Given the description of an element on the screen output the (x, y) to click on. 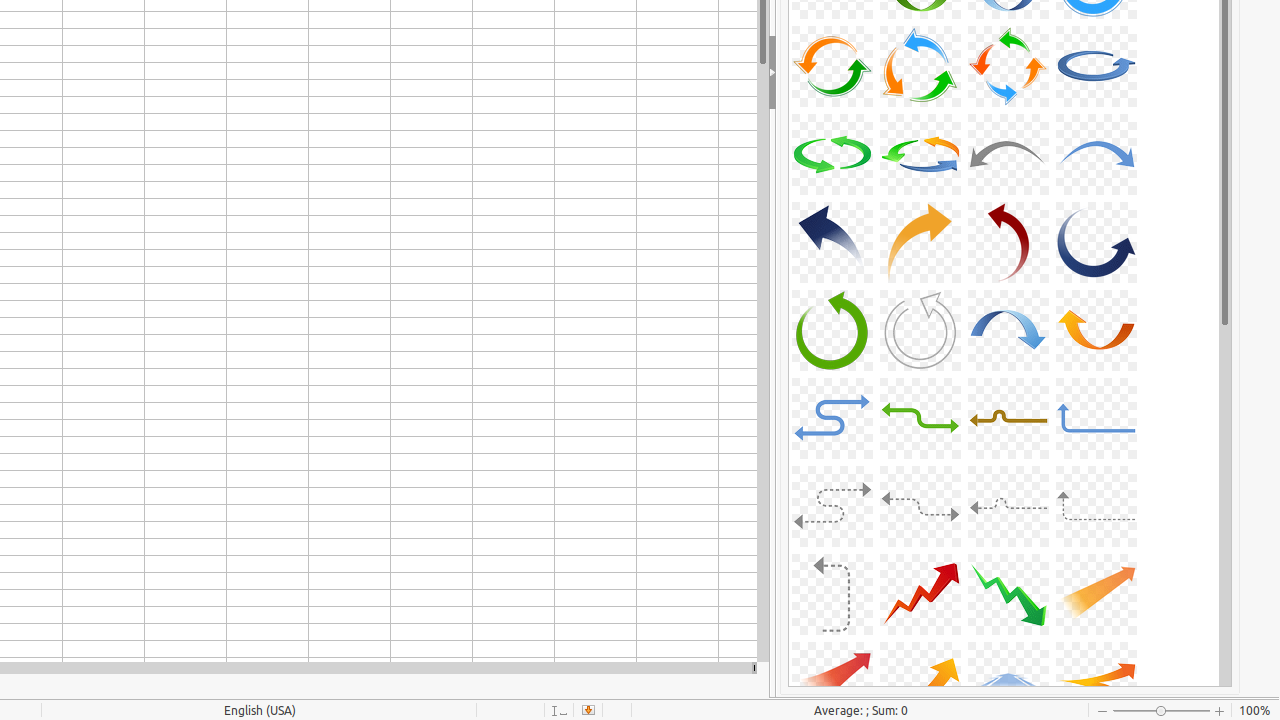
A21-CircleArrow-Green Element type: list-item (832, 154)
A34-CurvedArrow-Green-TwoDirections Element type: list-item (920, 417)
A18-CircleArrow Element type: list-item (920, 65)
A30-CurvedArrow-Gray Element type: list-item (920, 330)
A26-CurvedArrow-Orange Element type: list-item (920, 242)
